Given the description of an element on the screen output the (x, y) to click on. 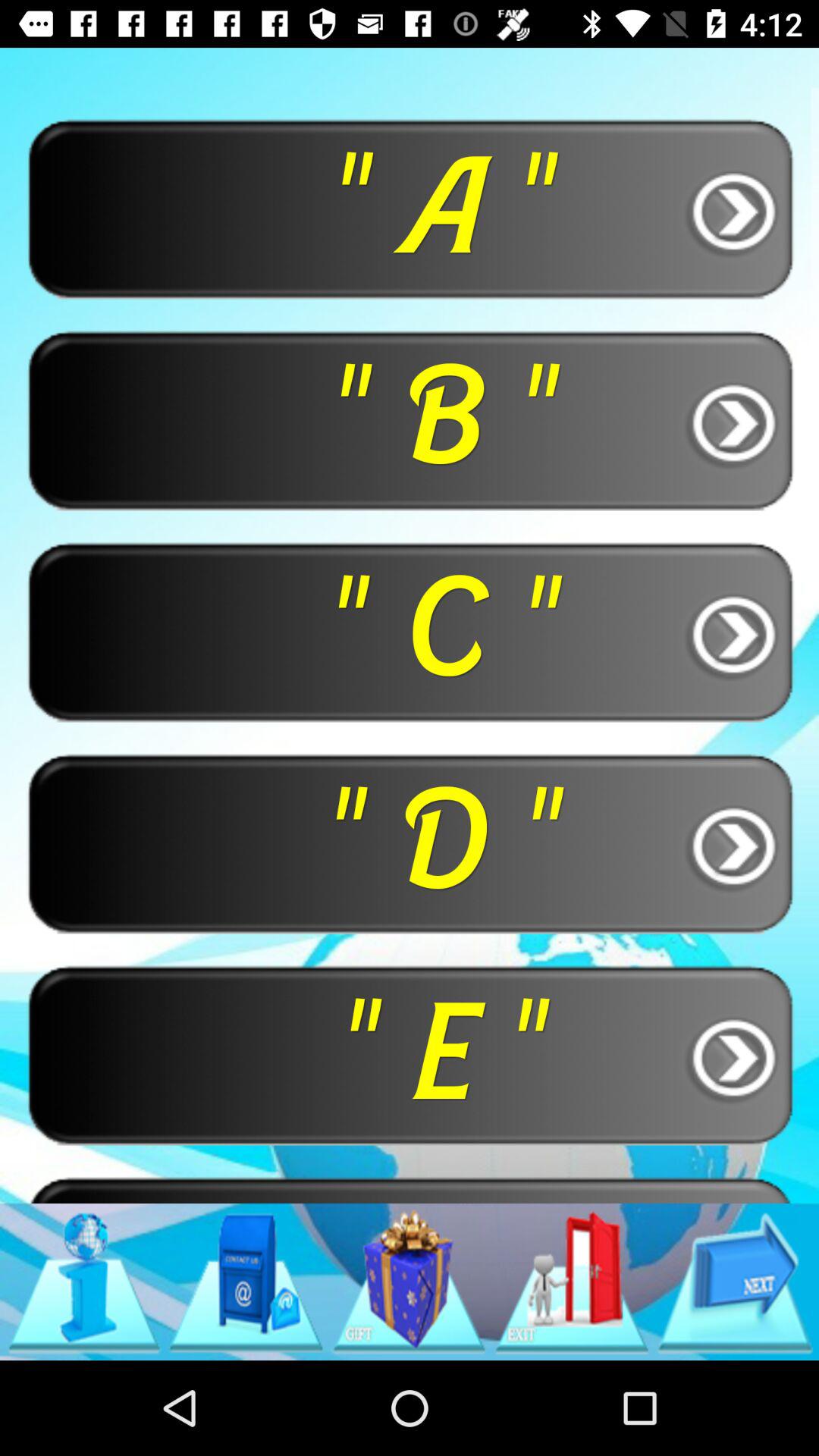
open information (83, 1281)
